Given the description of an element on the screen output the (x, y) to click on. 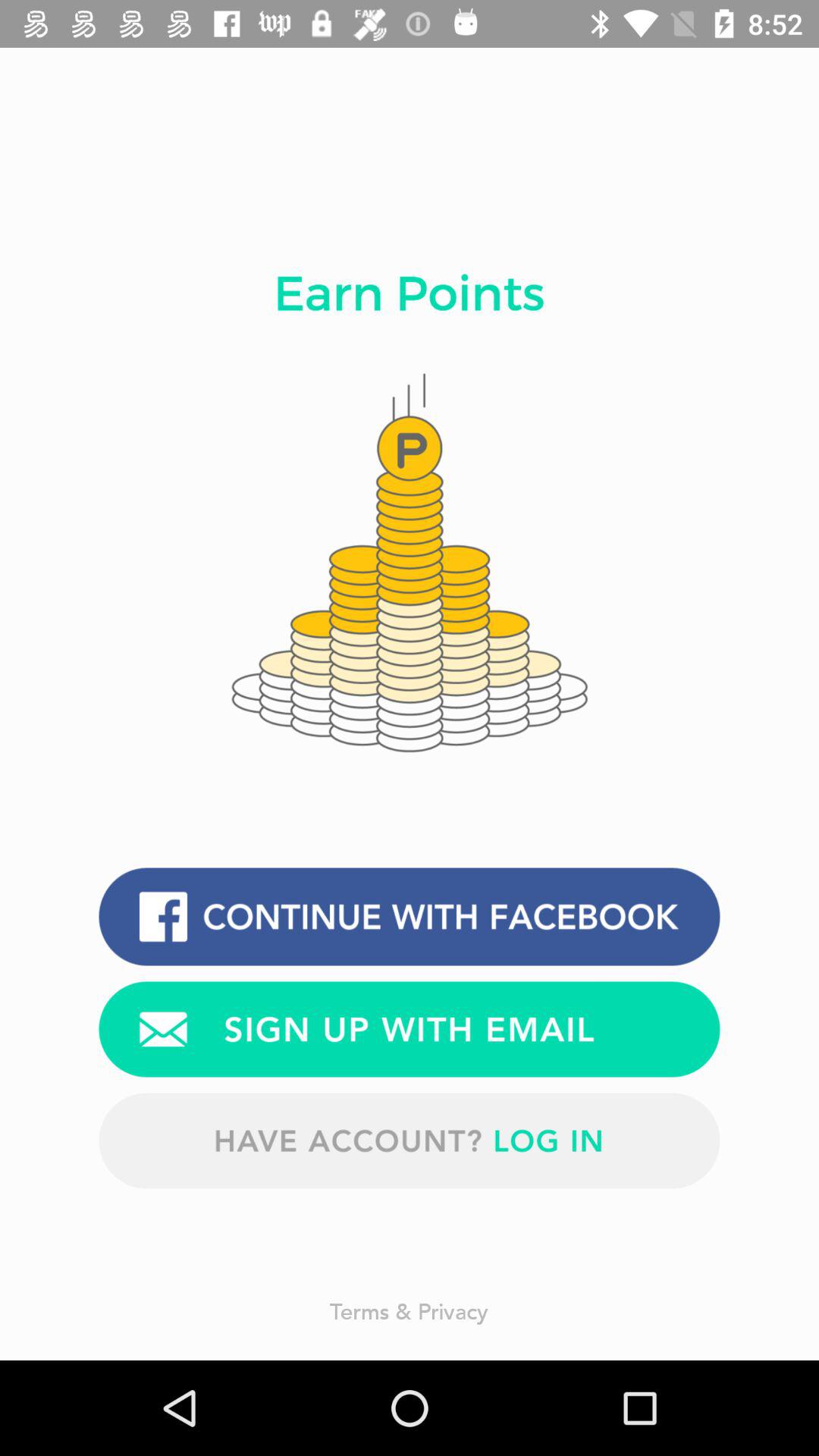
click the item below log in with item (409, 1029)
